Given the description of an element on the screen output the (x, y) to click on. 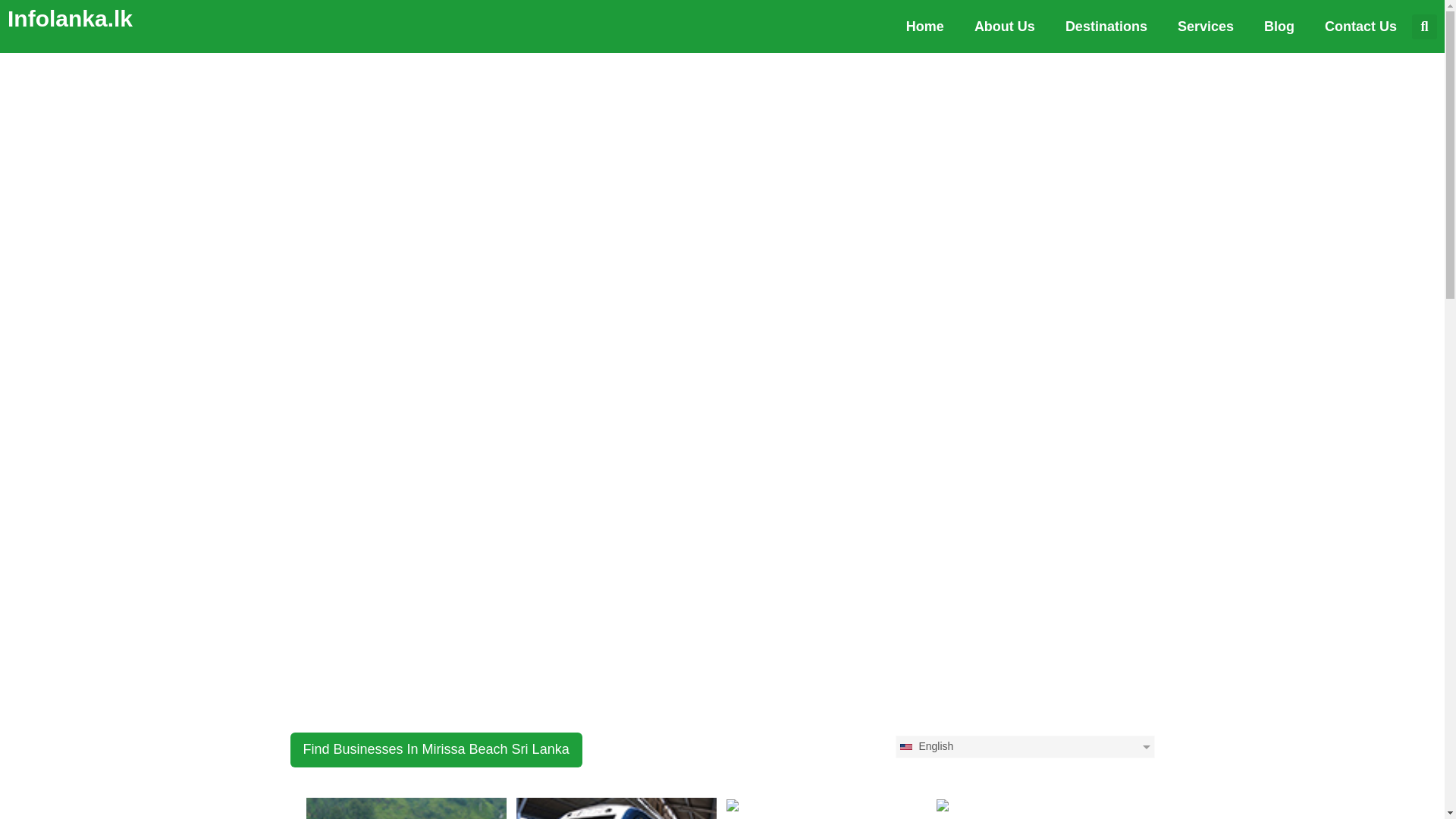
Blog (1278, 26)
Infolanka.lk (69, 18)
Home (925, 26)
Services (1205, 26)
About Us (1004, 26)
English (1025, 746)
Destinations (1105, 26)
Find Businesses In Mirissa Beach Sri Lanka (434, 749)
Contact Us (1360, 26)
